Given the description of an element on the screen output the (x, y) to click on. 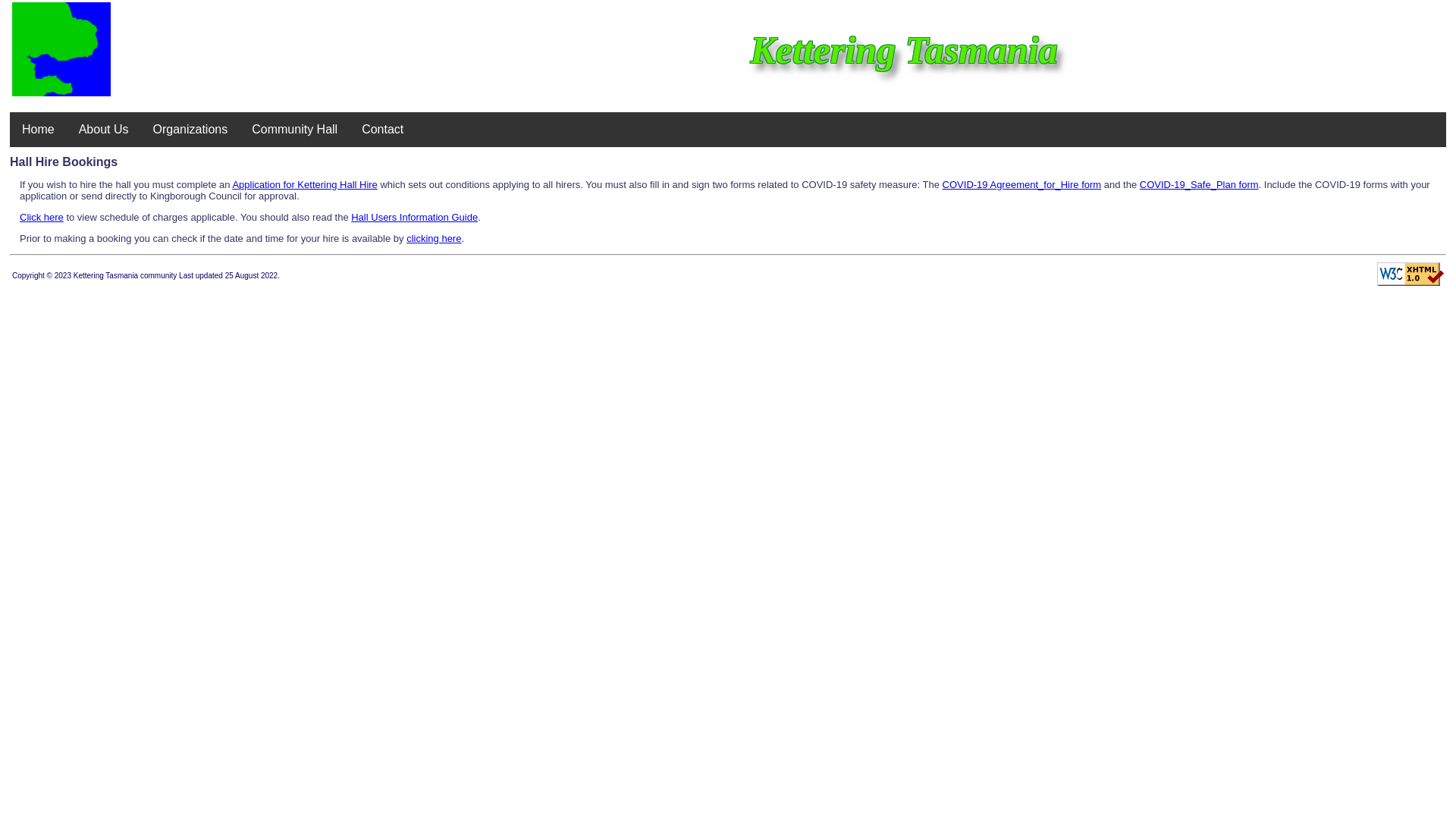
Application for Kettering Hall Hire Element type: text (304, 184)
COVID-19 Agreement_for_Hire form Element type: text (1021, 184)
Kettering Tasmania Element type: hover (61, 49)
Click here Element type: text (41, 216)
Home Element type: text (37, 129)
clicking here Element type: text (433, 238)
About Us Element type: text (103, 129)
Contact Element type: text (382, 129)
Community Hall Element type: text (294, 129)
Hall Users Information Guide Element type: text (414, 216)
COVID-19_Safe_Plan form Element type: text (1198, 184)
Organizations Element type: text (190, 129)
